Given the description of an element on the screen output the (x, y) to click on. 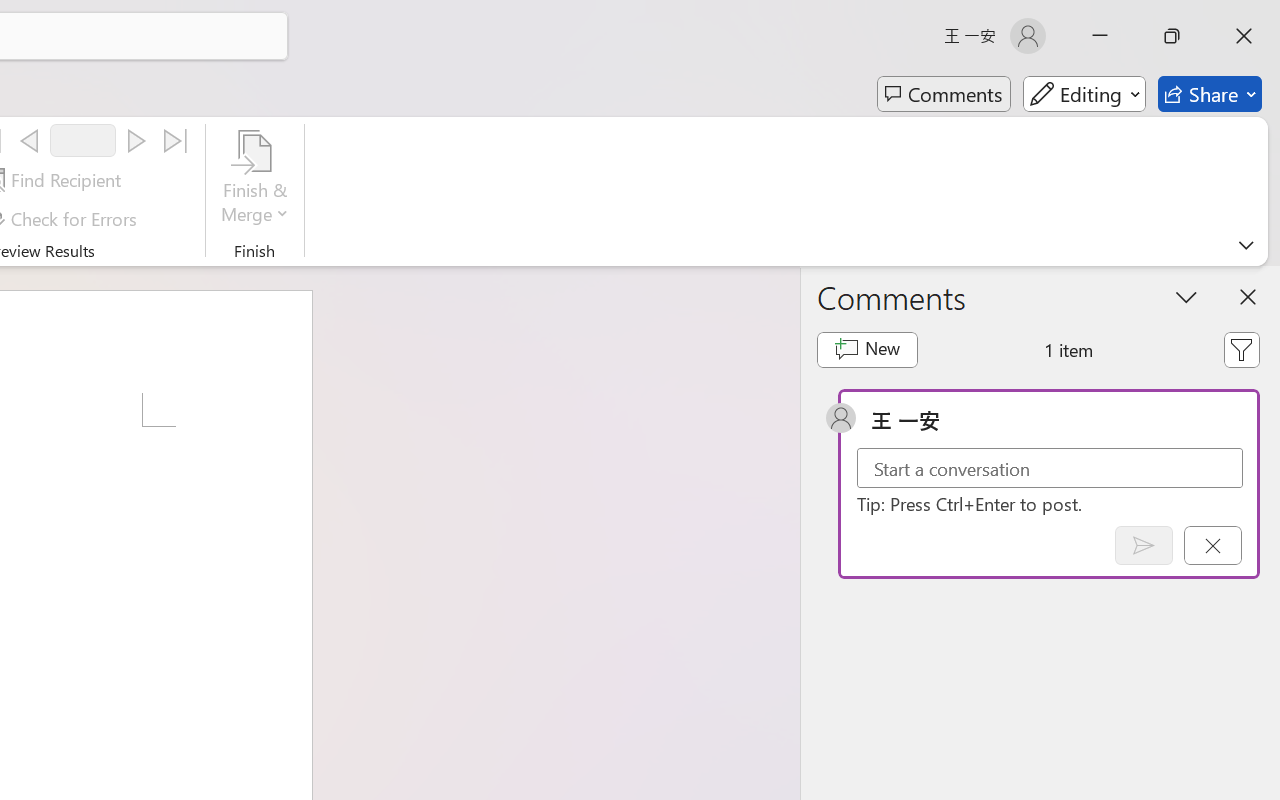
New comment (866, 350)
Last (175, 141)
Post comment (Ctrl + Enter) (1143, 545)
Finish & Merge (255, 179)
